Given the description of an element on the screen output the (x, y) to click on. 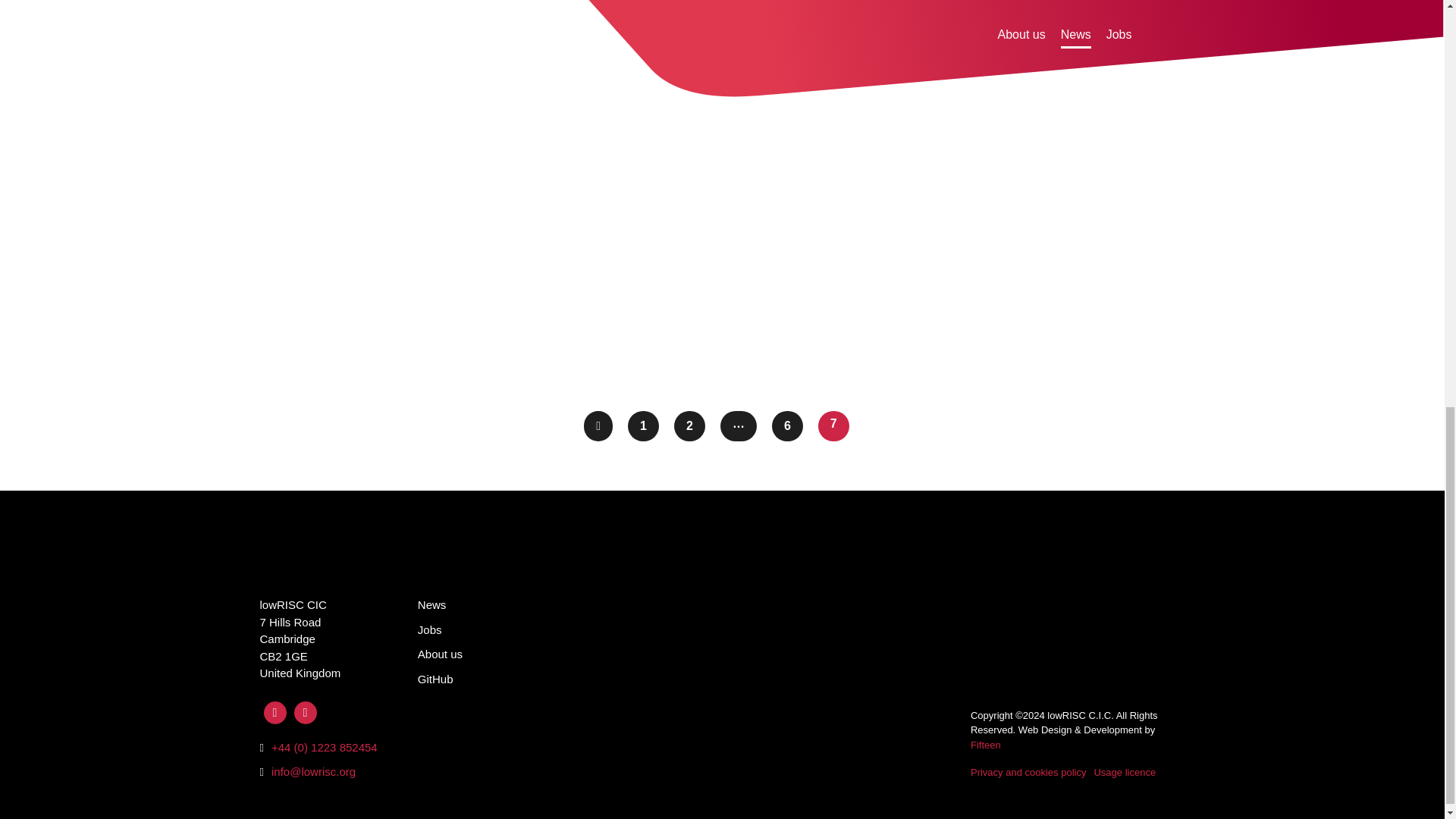
Previous page (597, 426)
News (431, 604)
1 (643, 426)
GitHub (434, 677)
Home (281, 561)
Jobs (429, 629)
2 (689, 426)
6 (787, 426)
About us (440, 653)
Home (281, 561)
Fifteen - Award winning digital agency (986, 744)
